Given the description of an element on the screen output the (x, y) to click on. 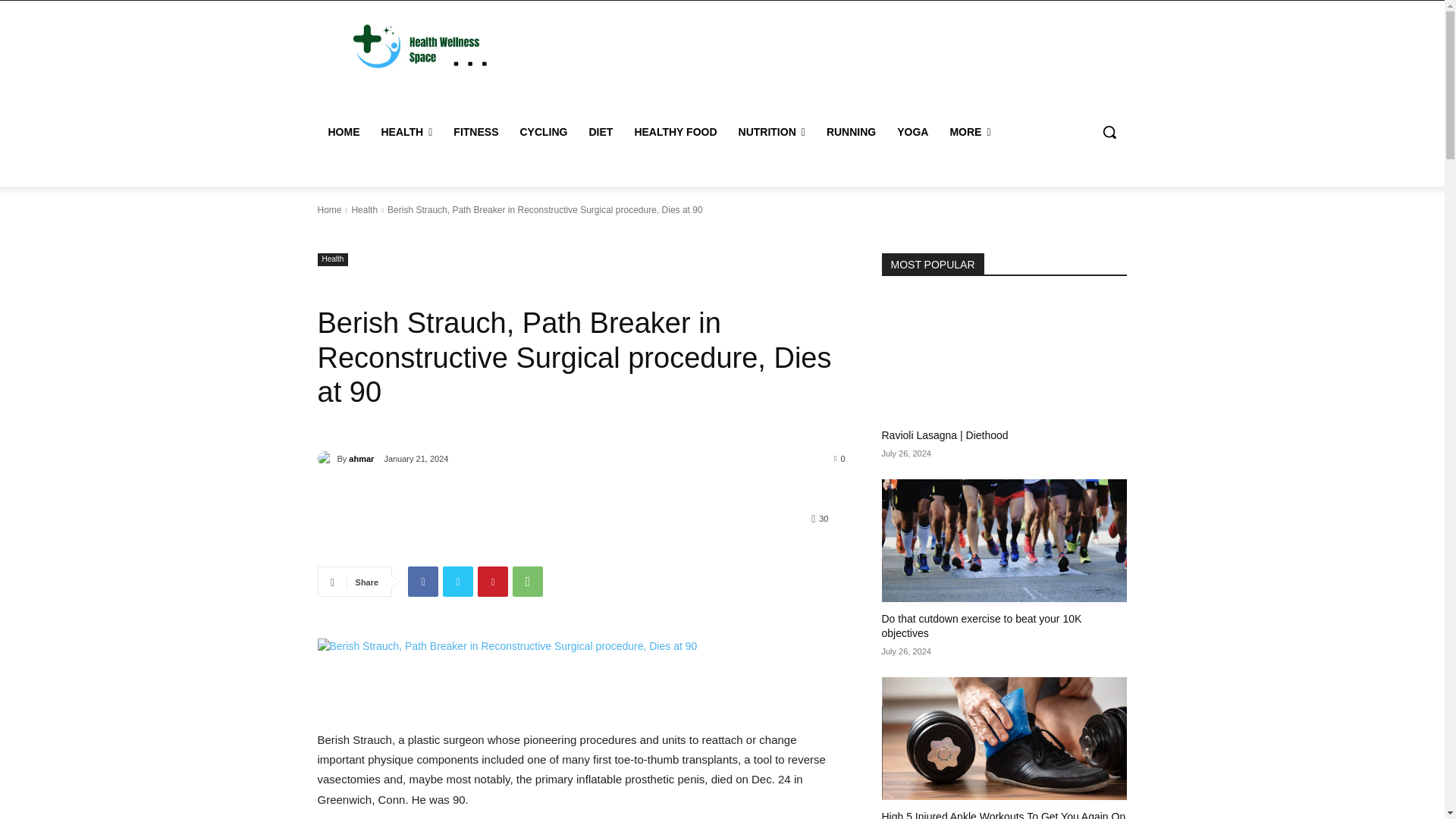
Health (332, 259)
ahmar (326, 458)
FITNESS (475, 131)
WhatsApp (527, 581)
RUNNING (850, 131)
Health (363, 209)
Facebook (422, 581)
DIET (600, 131)
HEALTH (405, 131)
ahmar (361, 458)
Pinterest (492, 581)
View all posts in Health (363, 209)
Twitter (457, 581)
Home (328, 209)
